Given the description of an element on the screen output the (x, y) to click on. 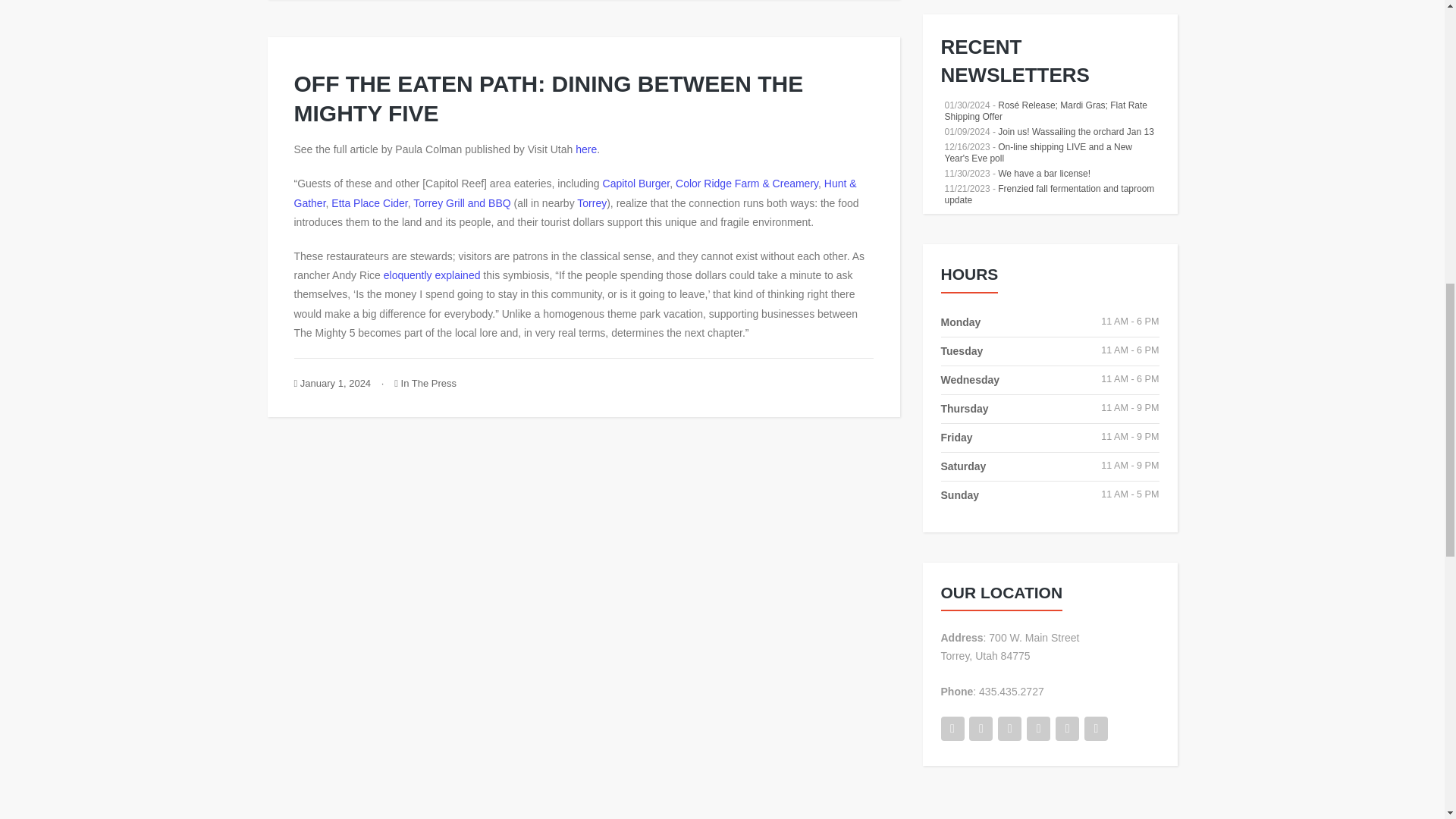
On-line shipping LIVE and a New Year's Eve poll (1038, 152)
Frenzied fall fermentation and taproom update (1049, 194)
Join us! Wassailing the orchard Jan 13 (1075, 131)
We have a bar license! (1043, 173)
